Given the description of an element on the screen output the (x, y) to click on. 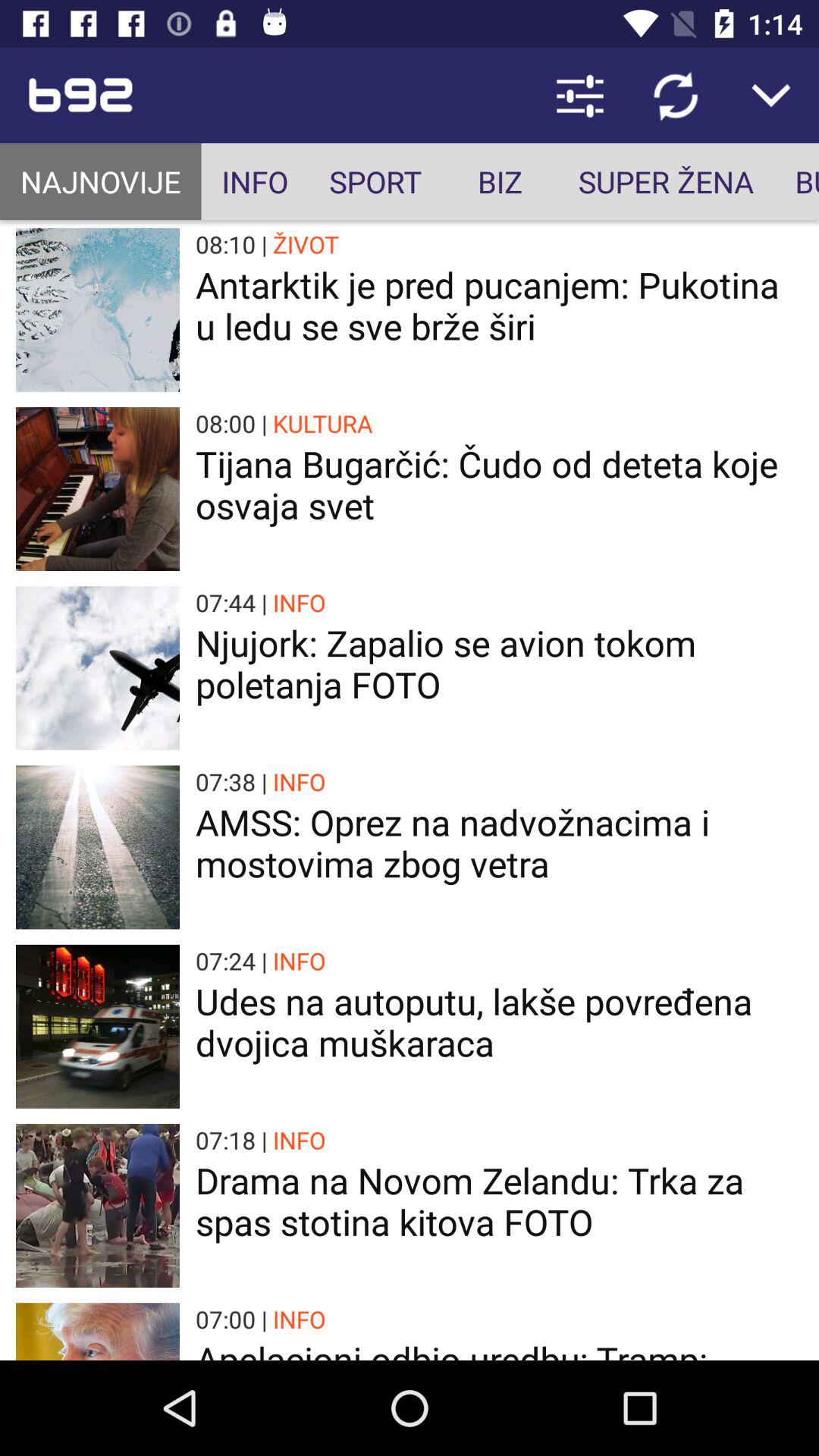
select apelacioni odbio uredbu icon (499, 1347)
